Given the description of an element on the screen output the (x, y) to click on. 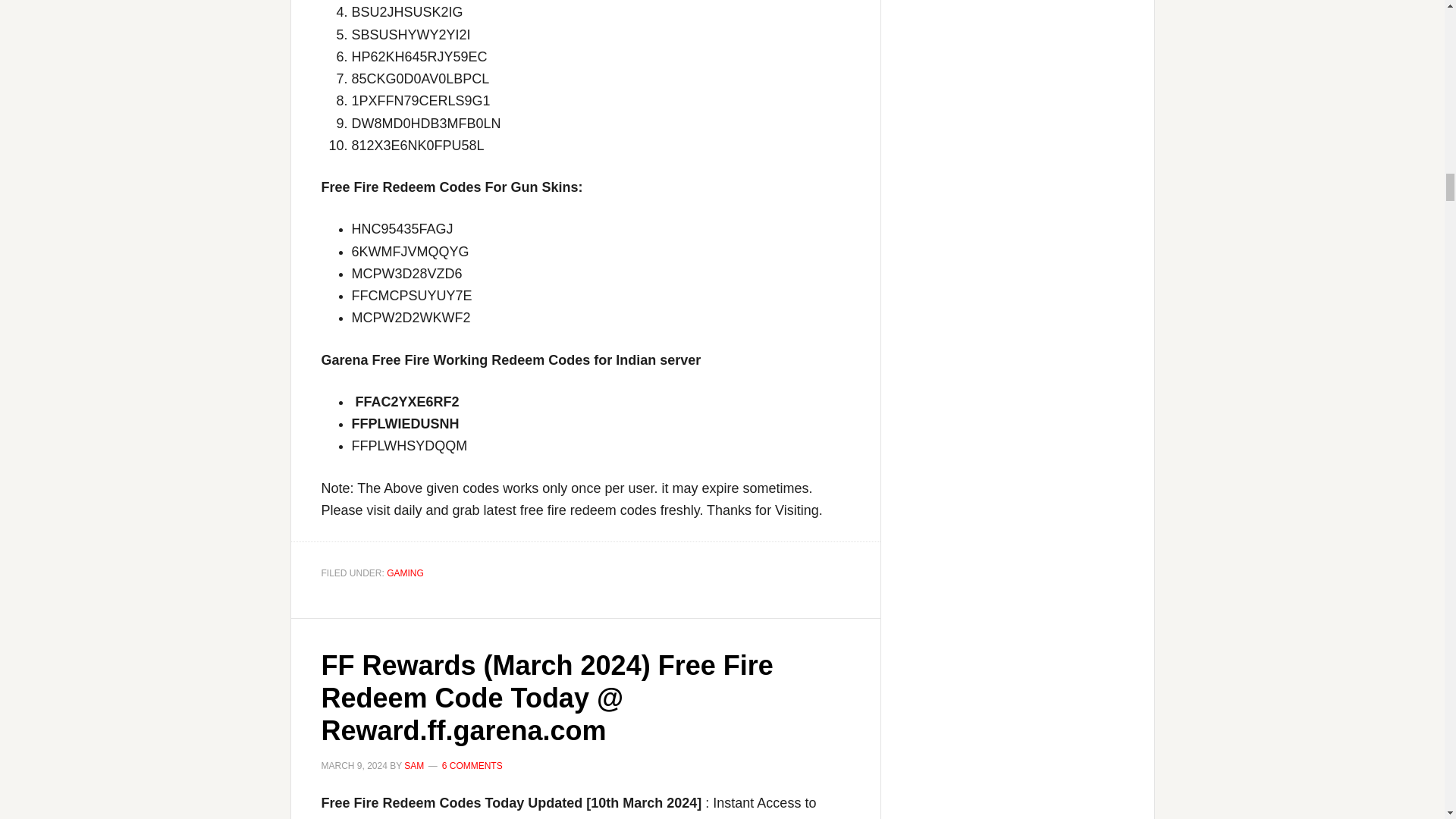
6 COMMENTS (472, 765)
GAMING (405, 573)
SAM (413, 765)
